Given the description of an element on the screen output the (x, y) to click on. 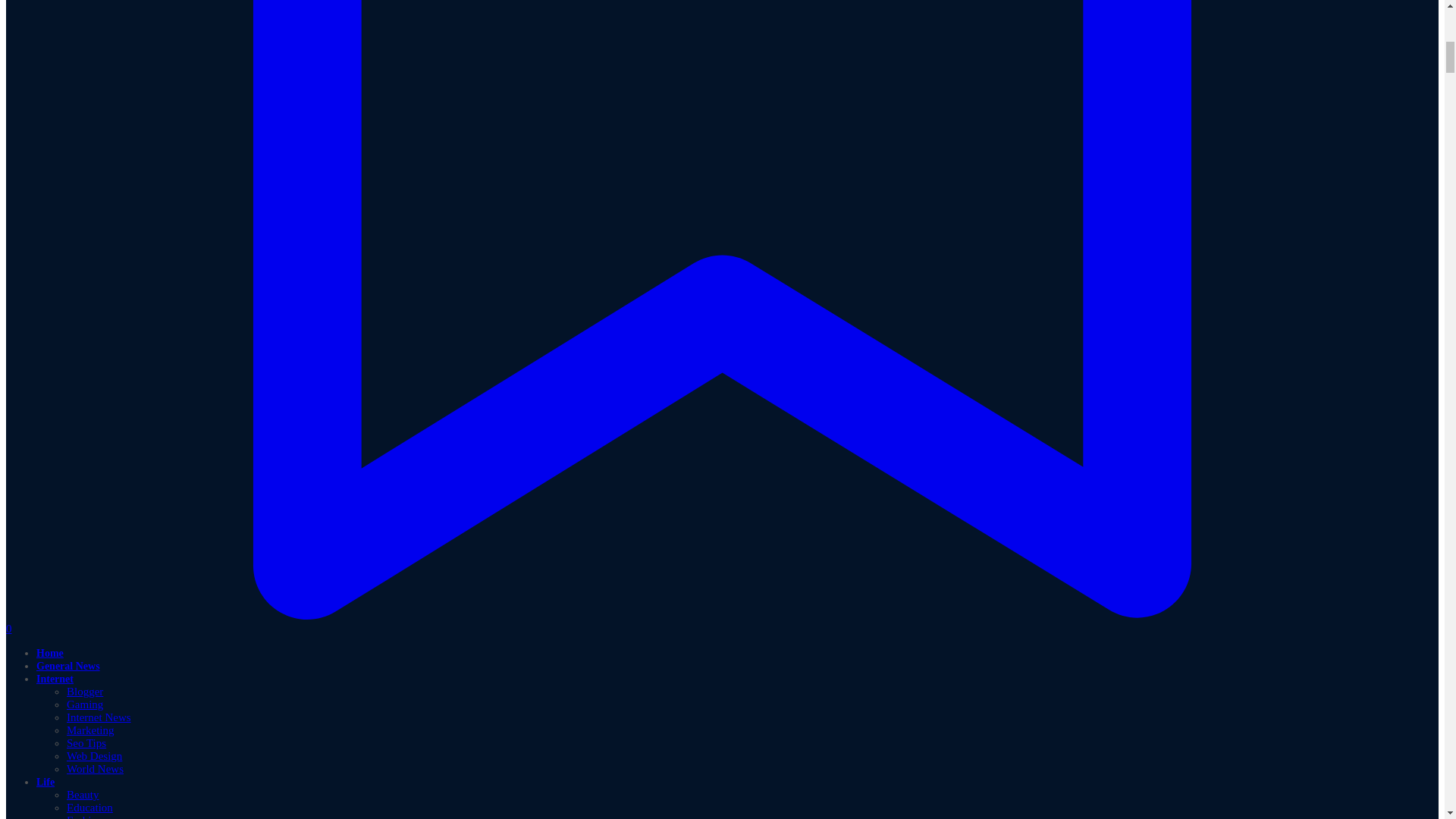
Education (89, 807)
Gaming (84, 704)
Fashion (84, 816)
Seo Tips (86, 743)
Internet News (98, 717)
Marketing (89, 729)
World News (94, 768)
General News (68, 665)
Blogger (84, 691)
Web Design (94, 756)
